Given the description of an element on the screen output the (x, y) to click on. 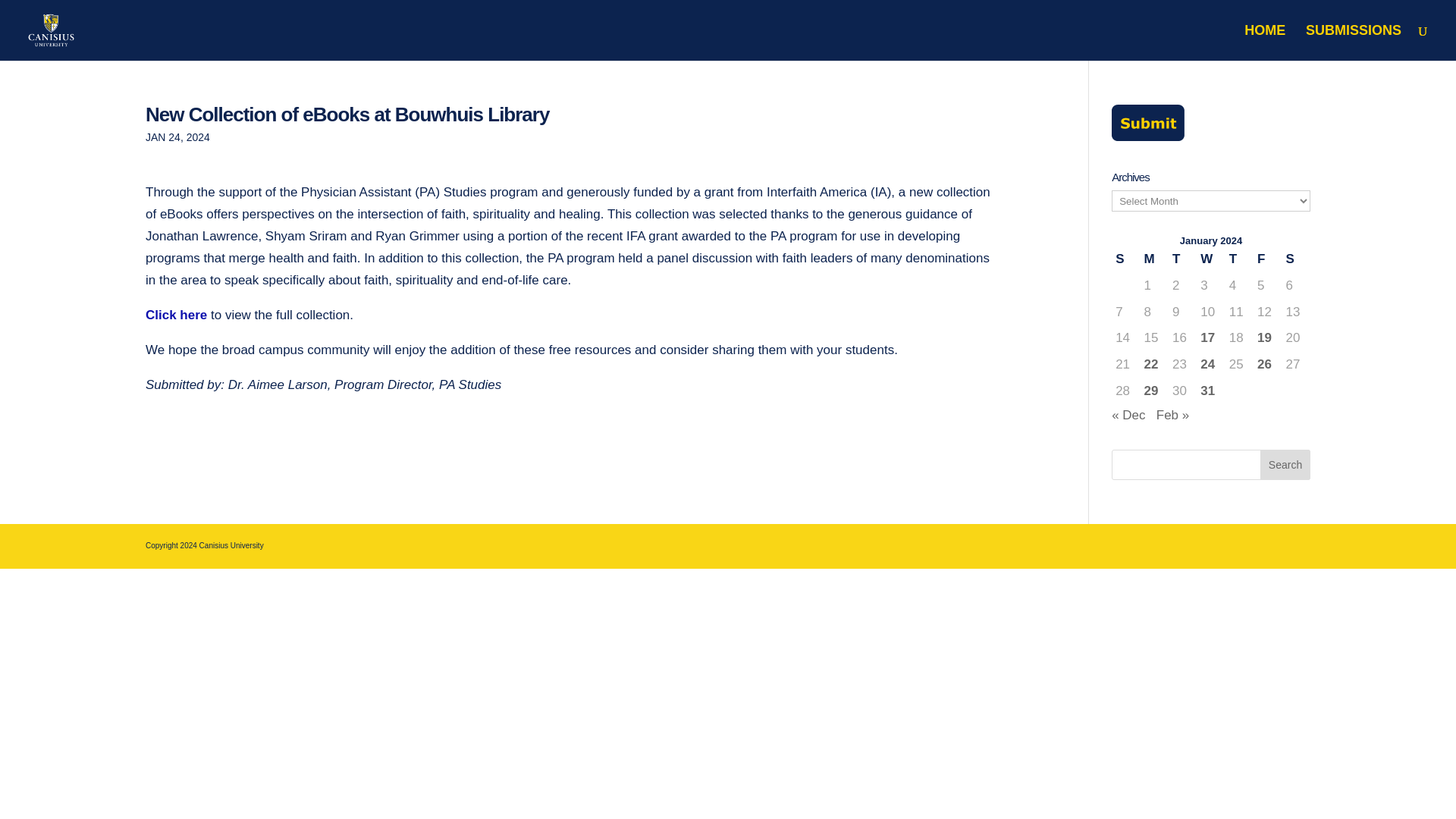
19 (1267, 338)
Search (1285, 464)
SUBMISSIONS (1353, 42)
Click here (175, 314)
26 (1267, 364)
HOME (1264, 42)
Thursday (1239, 259)
Monday (1154, 259)
24 (1210, 364)
Tuesday (1182, 259)
Saturday (1294, 259)
Wednesday (1210, 259)
Search (1285, 464)
Friday (1267, 259)
17 (1210, 338)
